Given the description of an element on the screen output the (x, y) to click on. 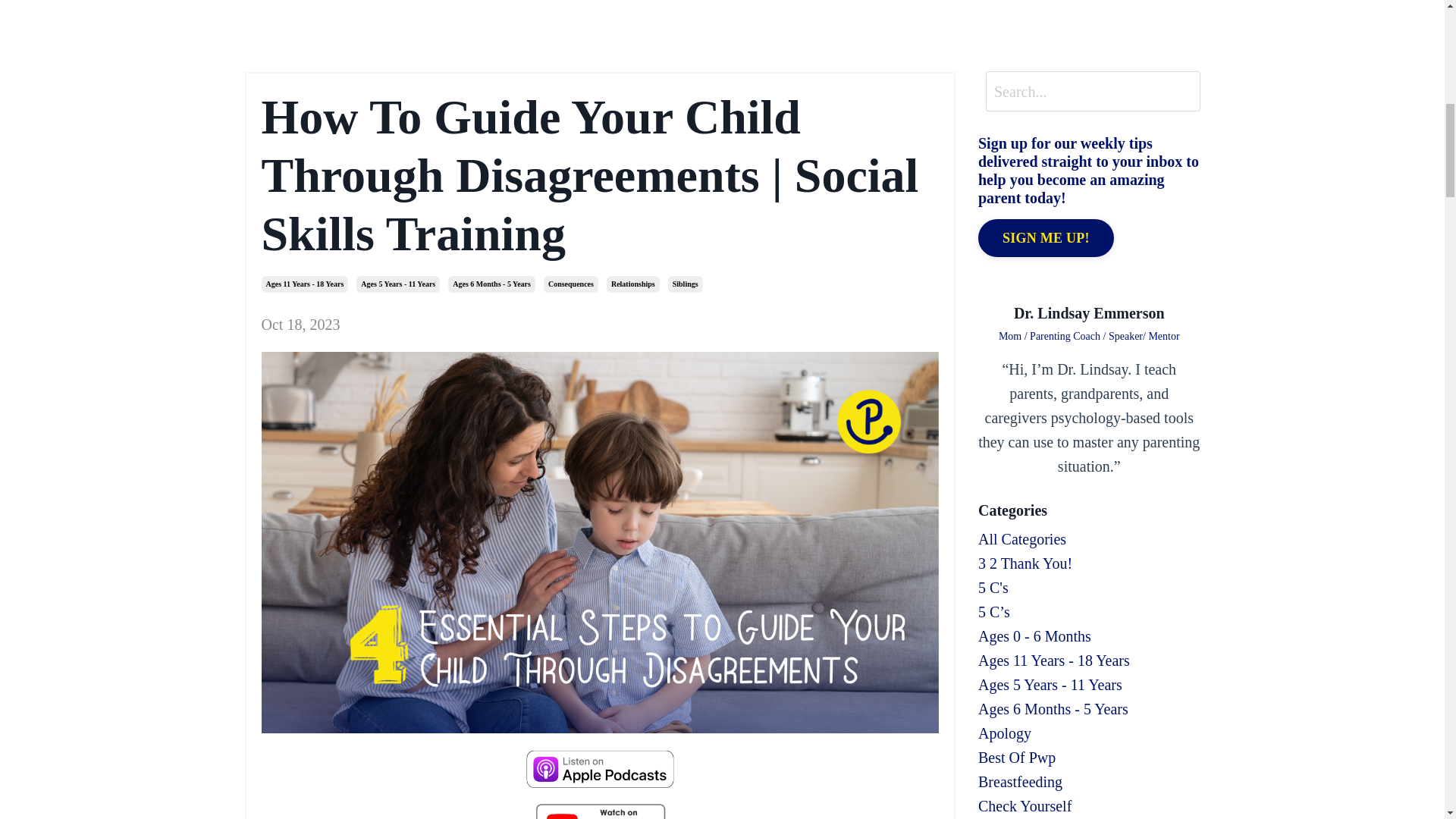
Consequences (570, 284)
Ages 11 Years - 18 Years (303, 284)
Relationships (633, 284)
Siblings (685, 284)
SIGN ME UP! (1045, 238)
Ages 5 Years - 11 Years (397, 284)
Ages 5 Years - 11 Years (1088, 684)
Best Of Pwp (1088, 757)
Ages 6 Months - 5 Years (491, 284)
Ages 11 Years - 18 Years (1088, 660)
